Given the description of an element on the screen output the (x, y) to click on. 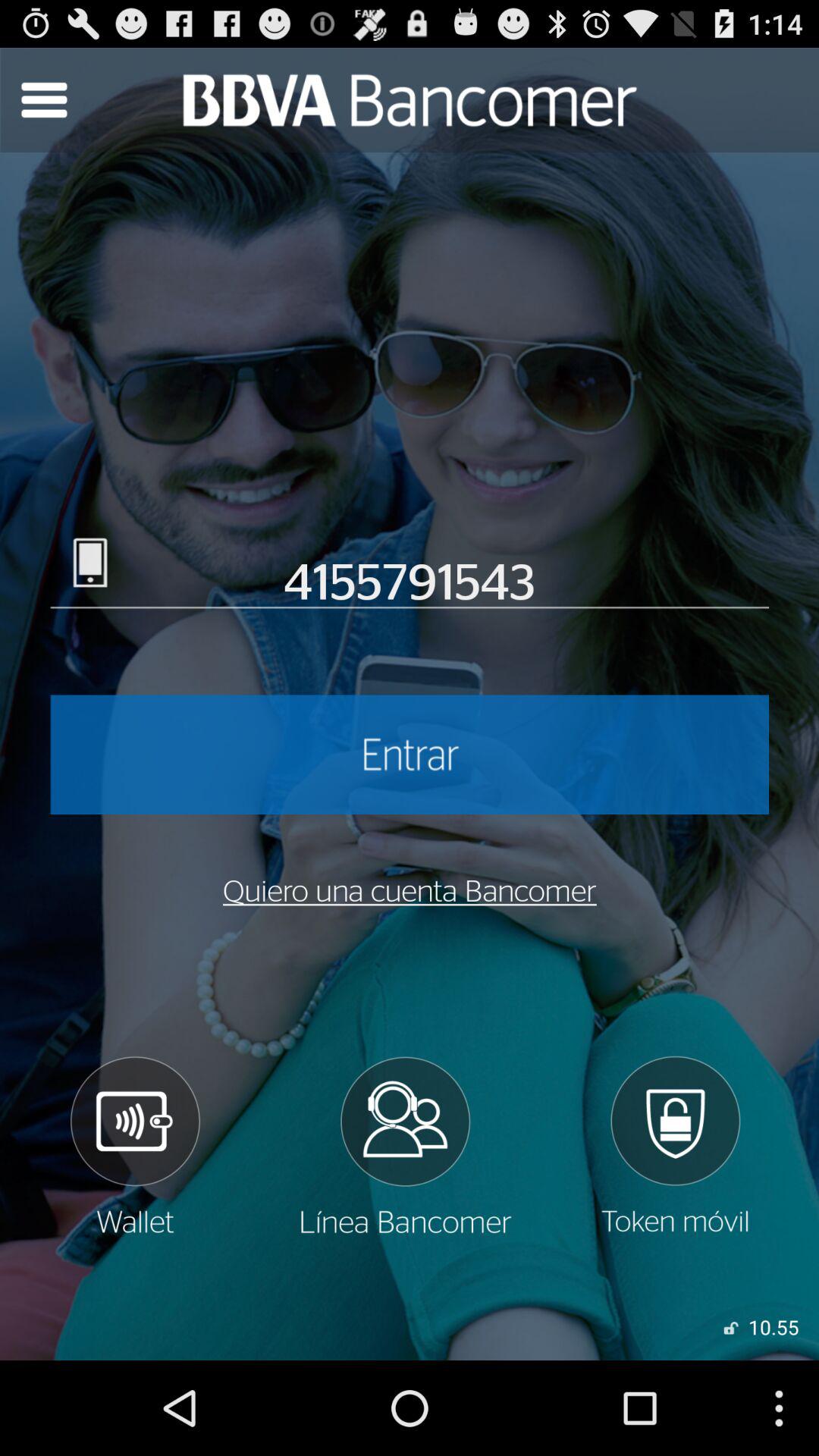
checks partners (404, 1145)
